Given the description of an element on the screen output the (x, y) to click on. 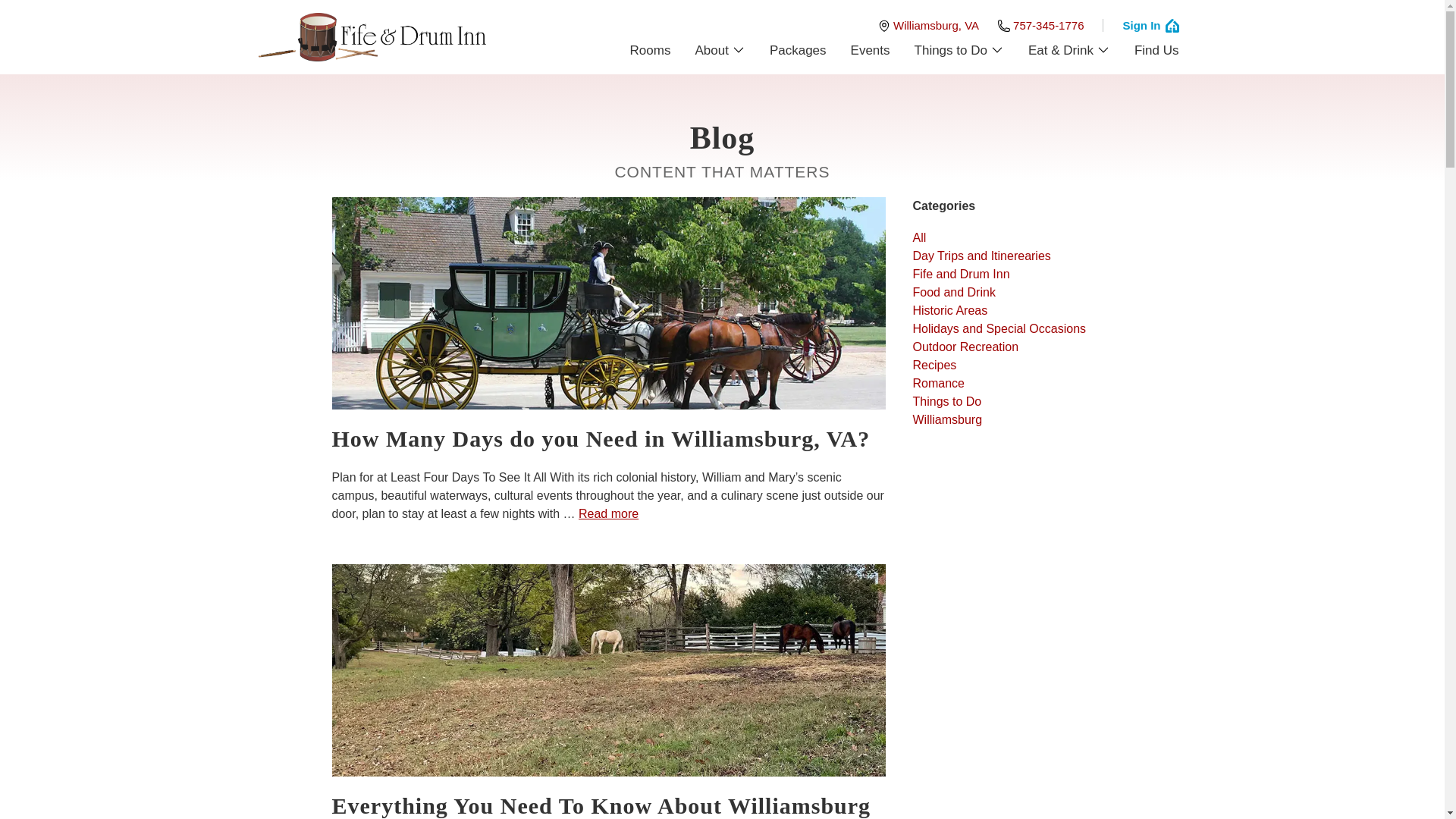
Horse and carriage (608, 303)
Things to Do (959, 50)
How Many Days do you Need in Williamsburg, VA? (608, 439)
757-345-1776 (1040, 24)
Rooms (650, 50)
horses grazing in a split-rail fenced pasture (608, 670)
Packages (797, 50)
About (719, 50)
Find Us (1156, 50)
Events (870, 50)
